Given the description of an element on the screen output the (x, y) to click on. 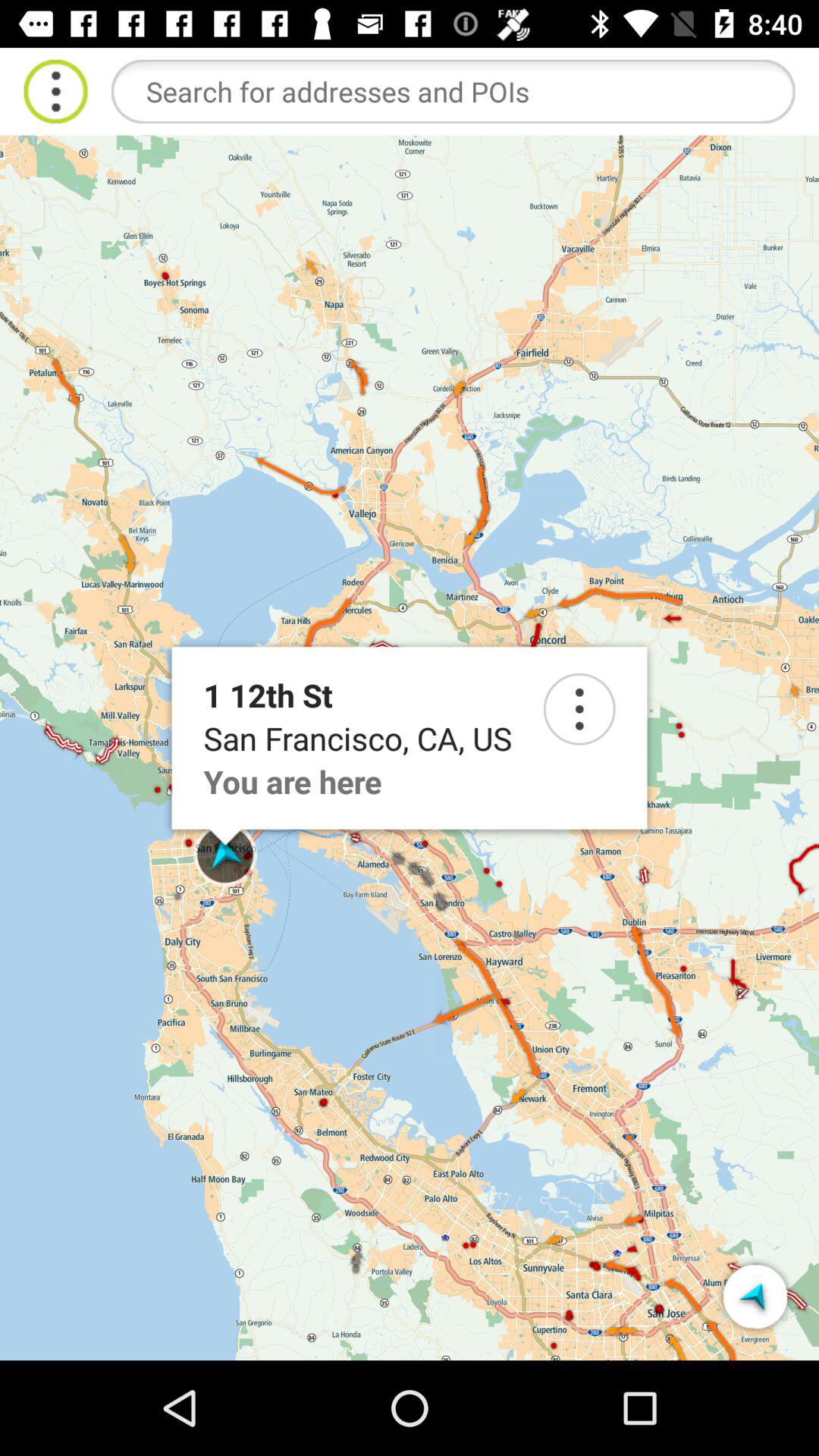
type search text (453, 91)
